Given the description of an element on the screen output the (x, y) to click on. 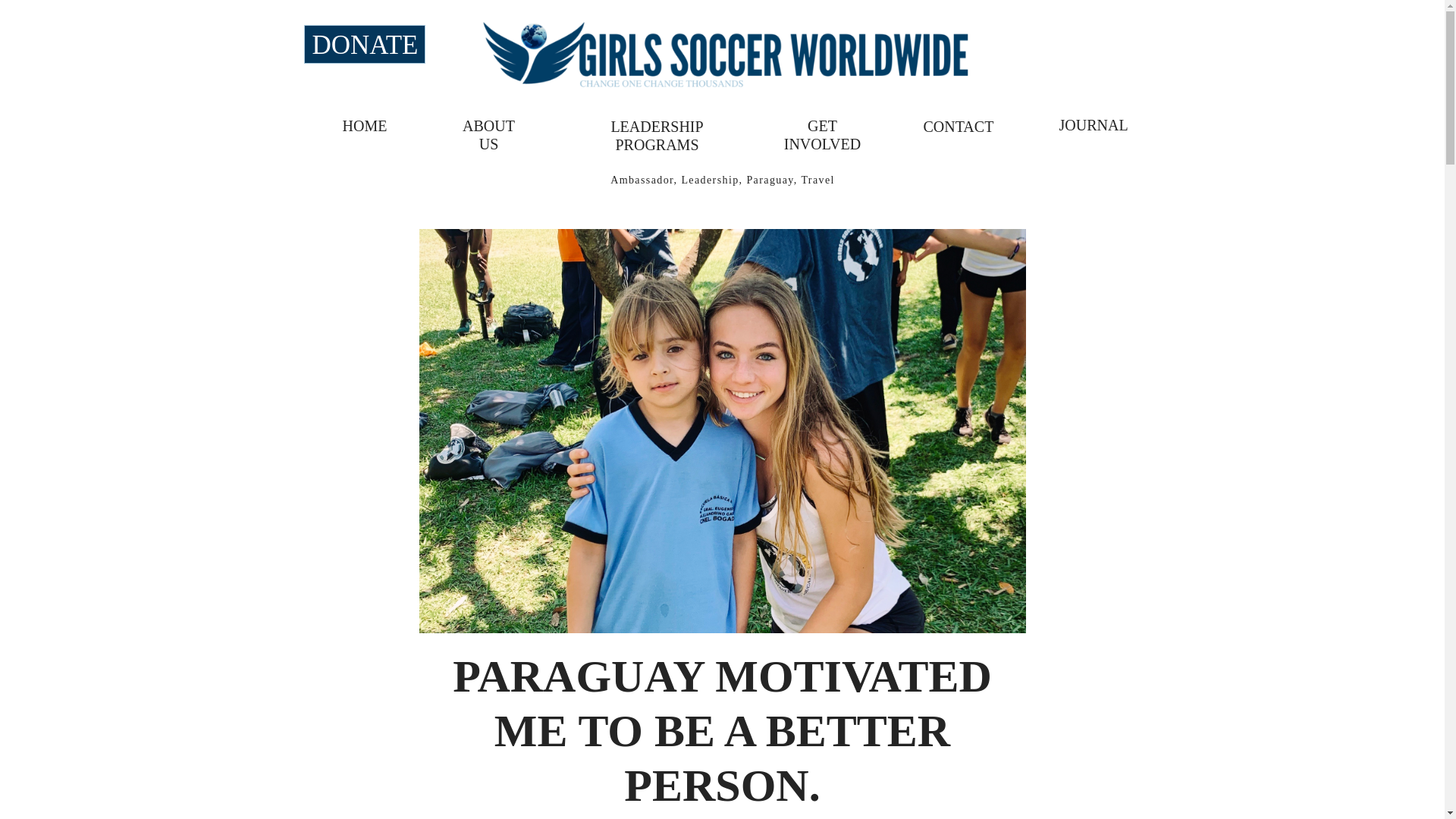
ABOUT US (489, 125)
HOME (363, 125)
CONTACT (955, 125)
DONATE (364, 43)
LEADERSHIP PROGRAMS (656, 124)
GET INVOLVED (821, 125)
JOURNAL (1087, 125)
